Given the description of an element on the screen output the (x, y) to click on. 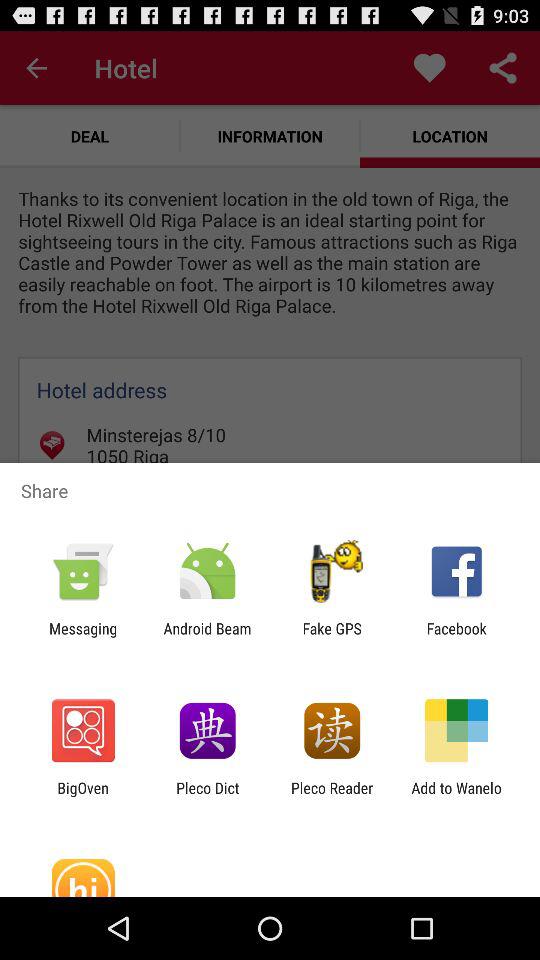
open item next to the pleco dict (82, 796)
